Given the description of an element on the screen output the (x, y) to click on. 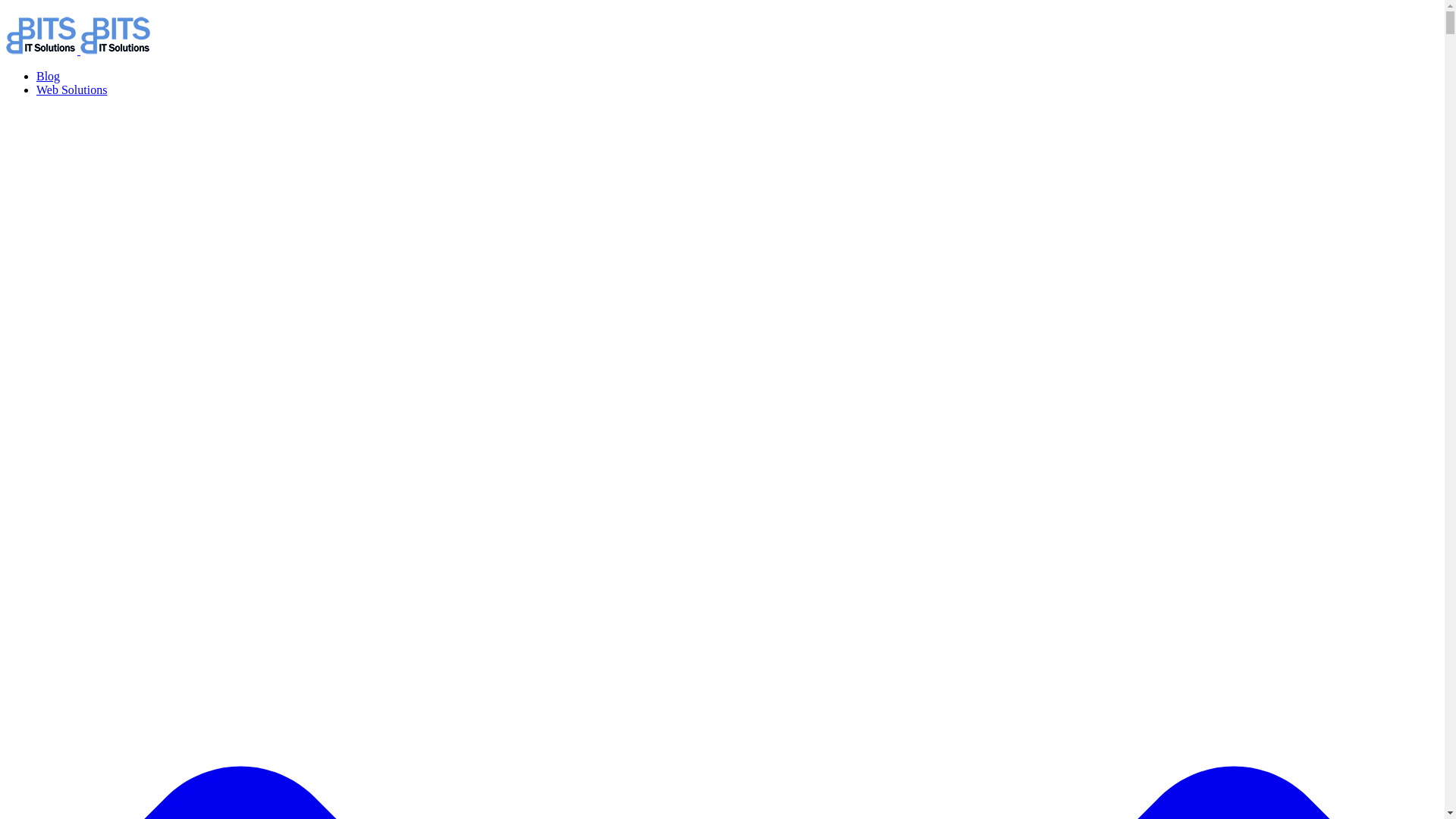
Blog Element type: text (47, 75)
Ga naar de inhoud Element type: text (5, 5)
